Given the description of an element on the screen output the (x, y) to click on. 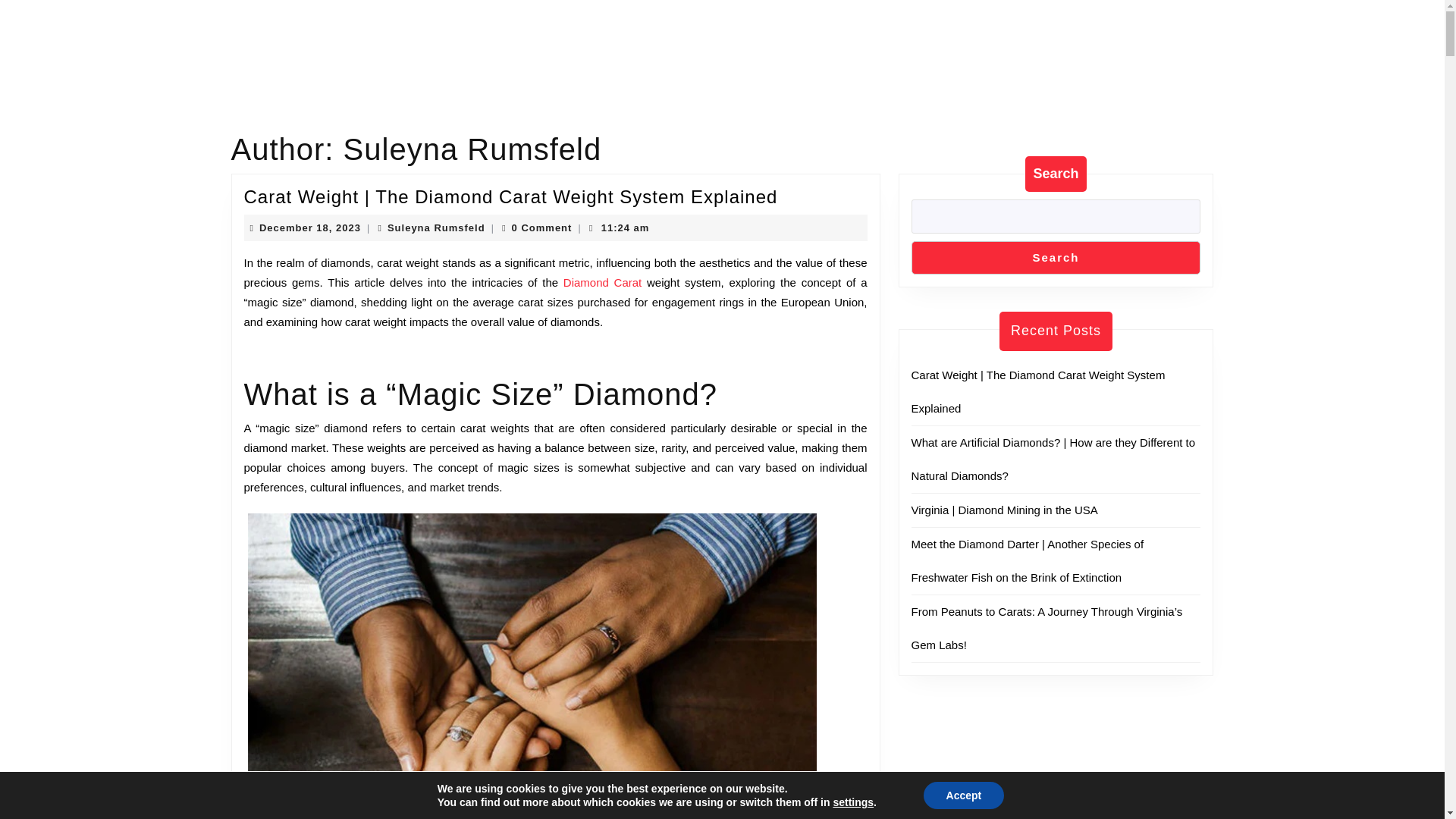
Contact Us (735, 41)
Home (591, 41)
What is a Magic Size Diamond (554, 704)
Diamond (658, 41)
